Given the description of an element on the screen output the (x, y) to click on. 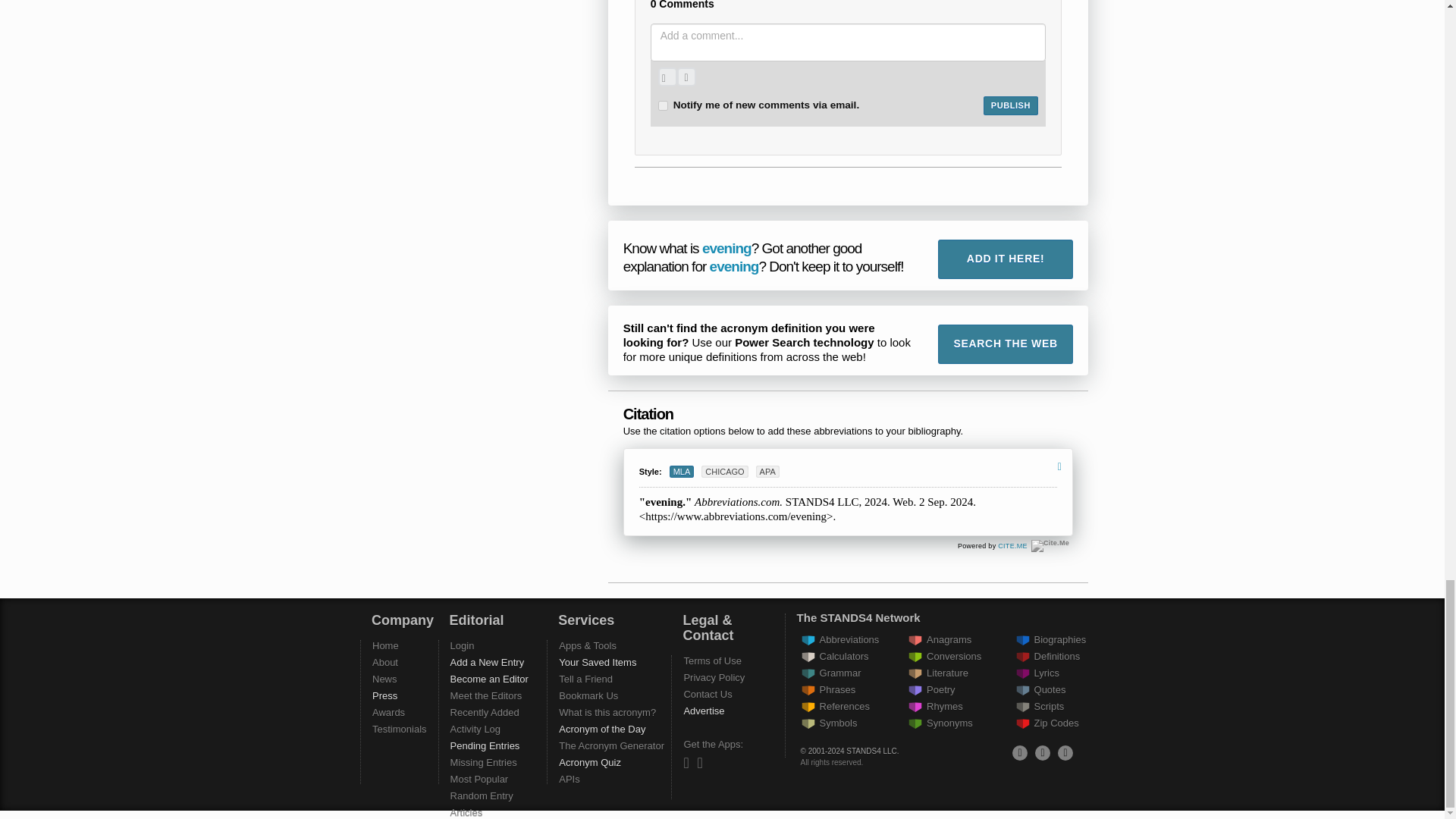
Cite.Me (1050, 545)
Upload an image (667, 76)
Cite.Me (1049, 545)
on (663, 105)
Cite.Me (1012, 545)
Record a sound (686, 76)
